Given the description of an element on the screen output the (x, y) to click on. 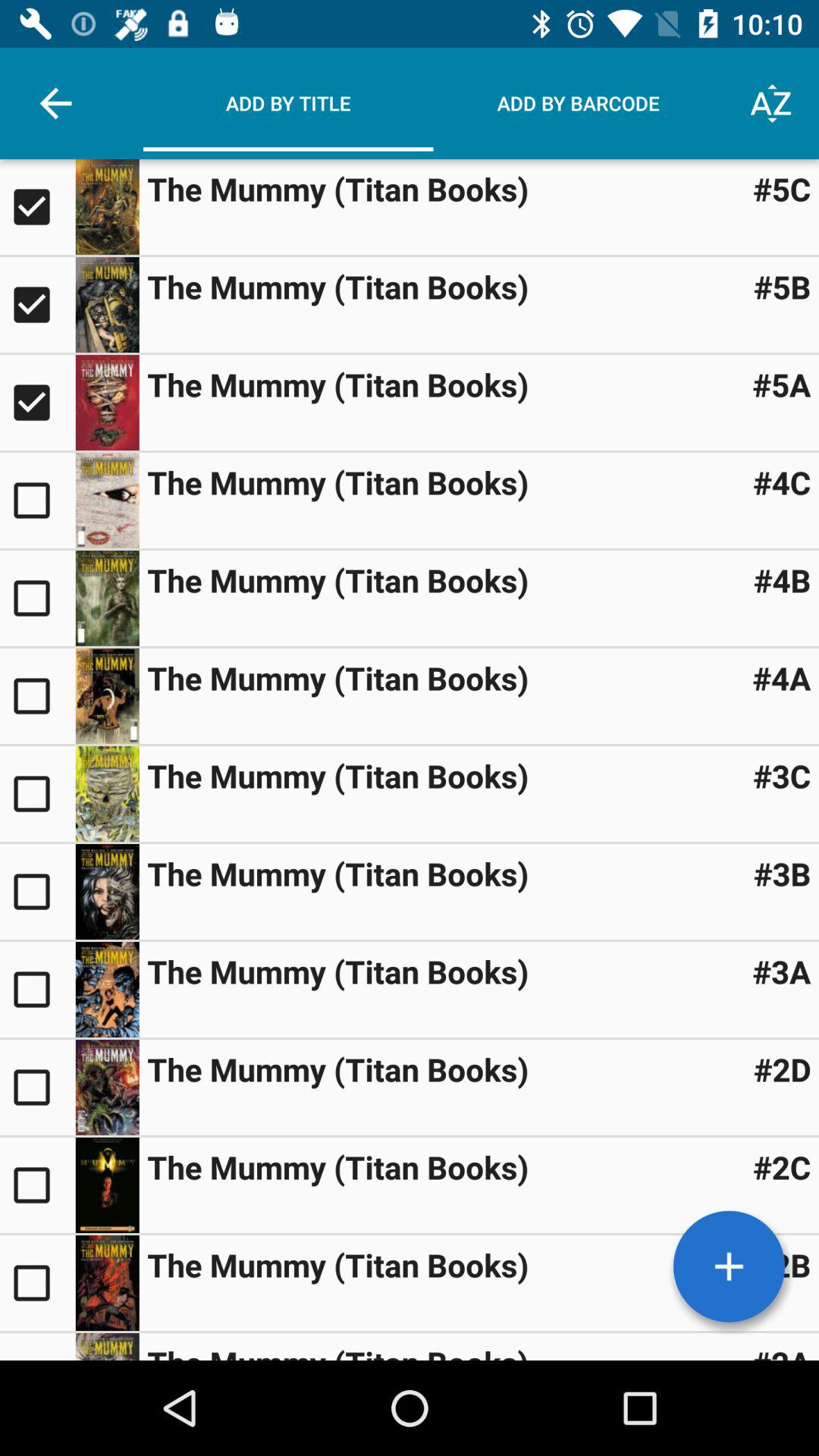
add to collection (37, 1185)
